Given the description of an element on the screen output the (x, y) to click on. 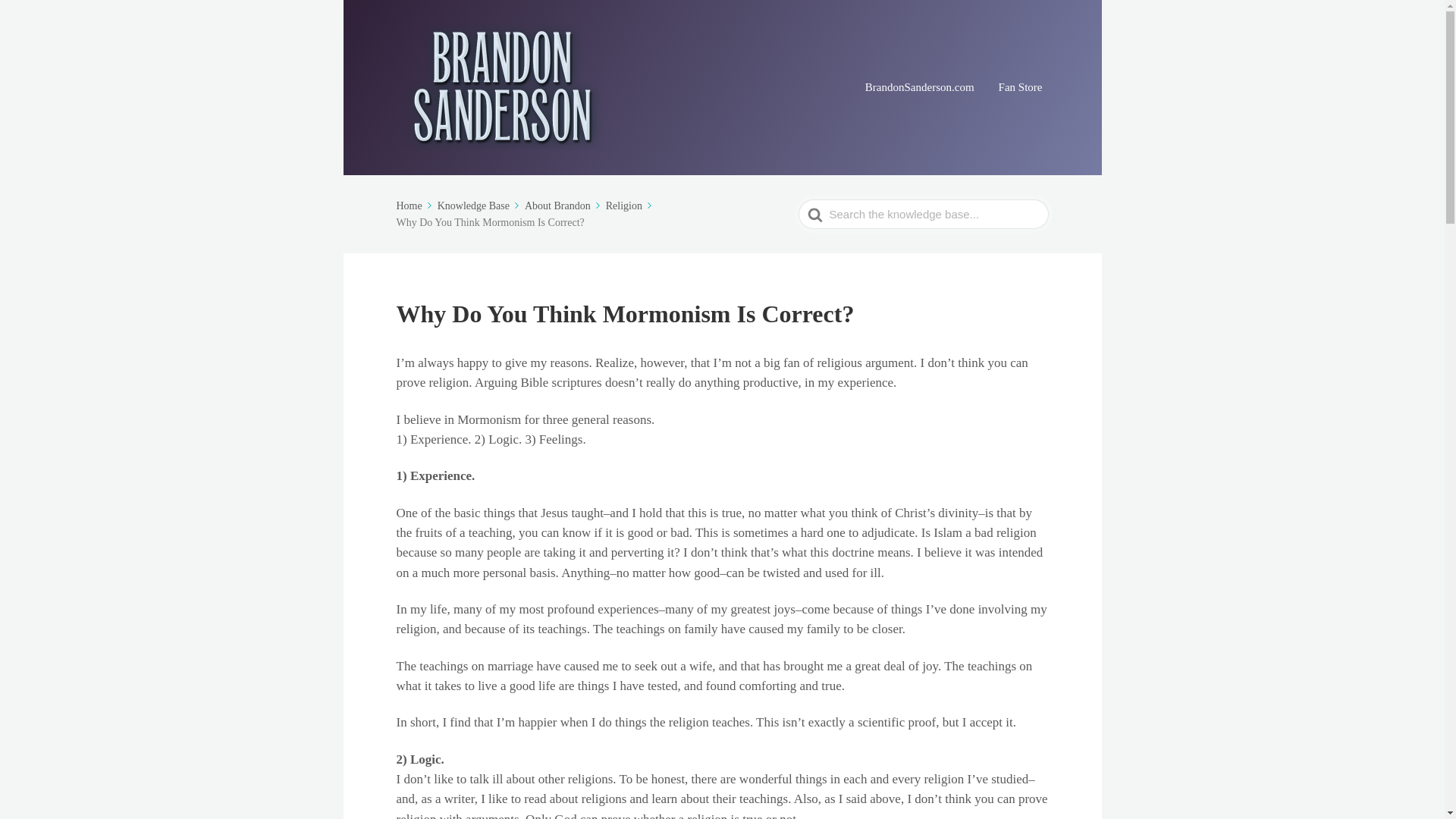
BrandonSanderson.com (919, 87)
Fan Store (1020, 87)
Religion (630, 205)
Knowledge Base (480, 205)
About Brandon (563, 205)
Home (414, 205)
